Given the description of an element on the screen output the (x, y) to click on. 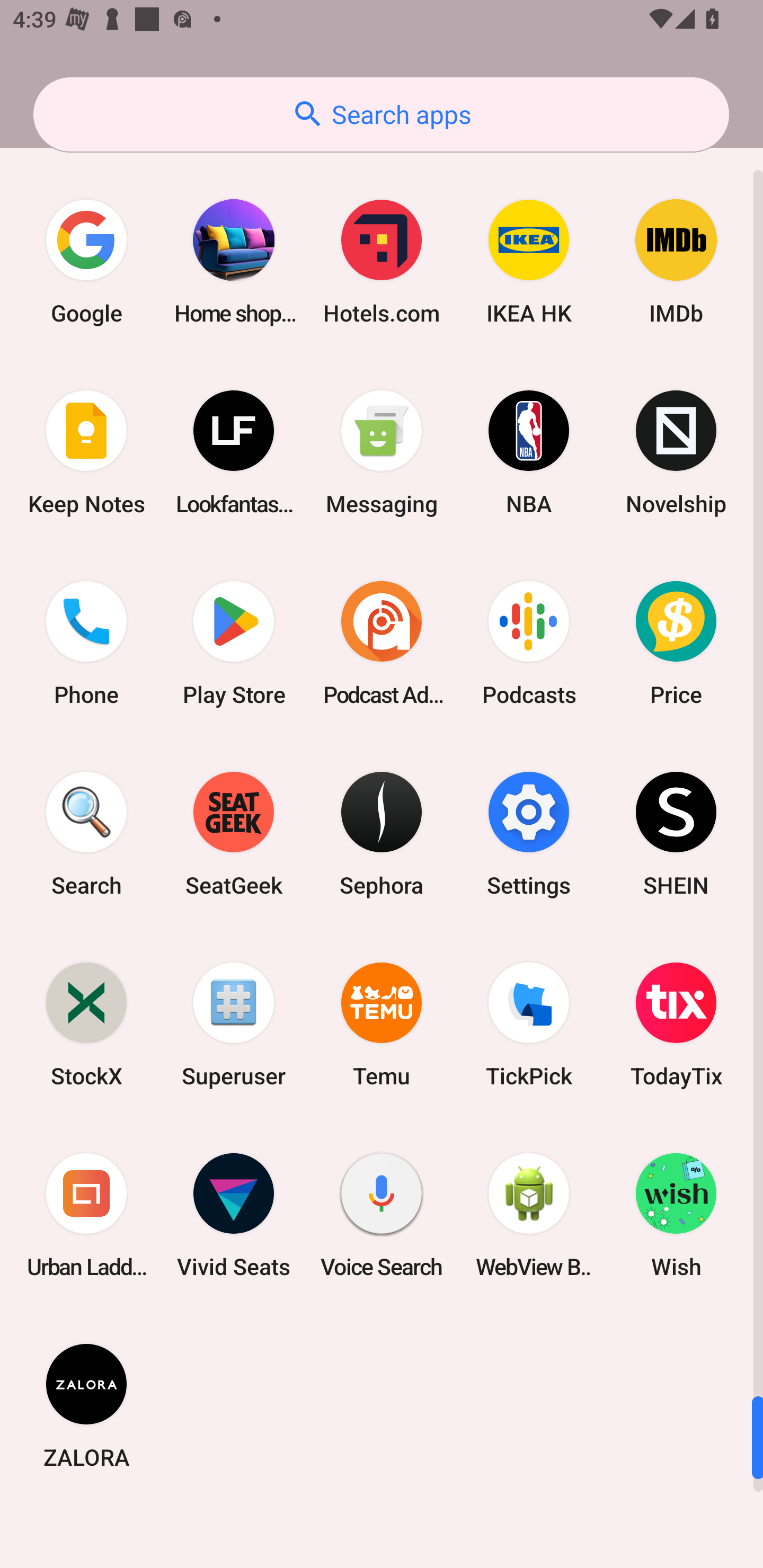
  Search apps (381, 114)
Google (86, 261)
Home shopping (233, 261)
Hotels.com (381, 261)
IKEA HK (528, 261)
IMDb (676, 261)
Keep Notes (86, 452)
Lookfantastic (233, 452)
Messaging (381, 452)
NBA (528, 452)
Novelship (676, 452)
Phone (86, 642)
Play Store (233, 642)
Podcast Addict (381, 642)
Podcasts (528, 642)
Price (676, 642)
Search (86, 833)
SeatGeek (233, 833)
Sephora (381, 833)
Settings (528, 833)
SHEIN (676, 833)
StockX (86, 1024)
Superuser (233, 1024)
Temu (381, 1024)
TickPick (528, 1024)
TodayTix (676, 1024)
Urban Ladder (86, 1214)
Vivid Seats (233, 1214)
Voice Search (381, 1214)
WebView Browser Tester (528, 1214)
Wish (676, 1214)
ZALORA (86, 1405)
